Given the description of an element on the screen output the (x, y) to click on. 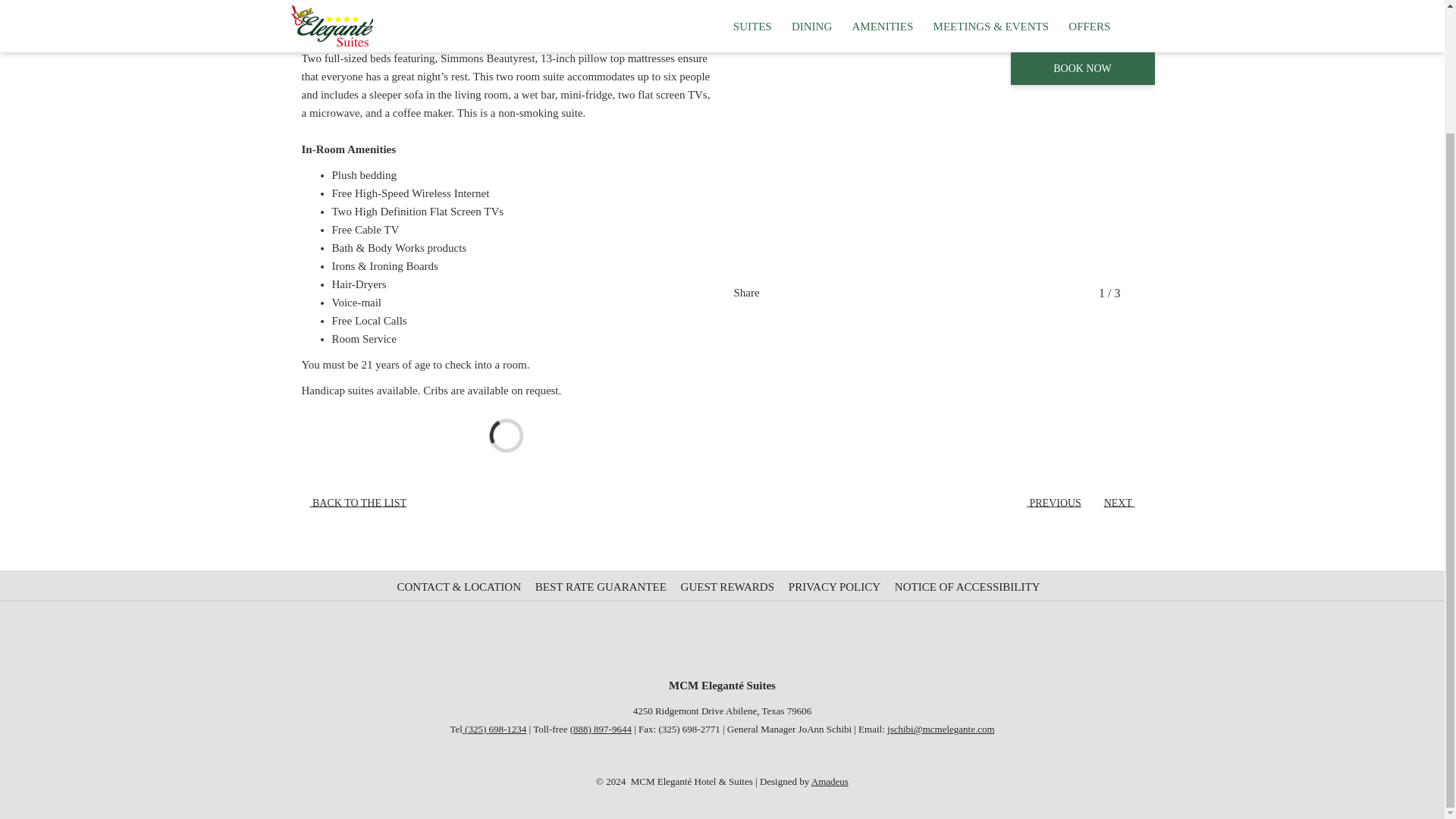
GUEST REWARDS (729, 586)
PREVIOUS (1048, 503)
Previous (1082, 293)
NEXT (1124, 503)
BACK TO THE LIST (352, 503)
Next (1135, 293)
NOTICE OF ACCESSIBILITY (969, 586)
PRIVACY POLICY (836, 586)
Share (759, 292)
BEST RATE GUARANTEE (602, 586)
